Given the description of an element on the screen output the (x, y) to click on. 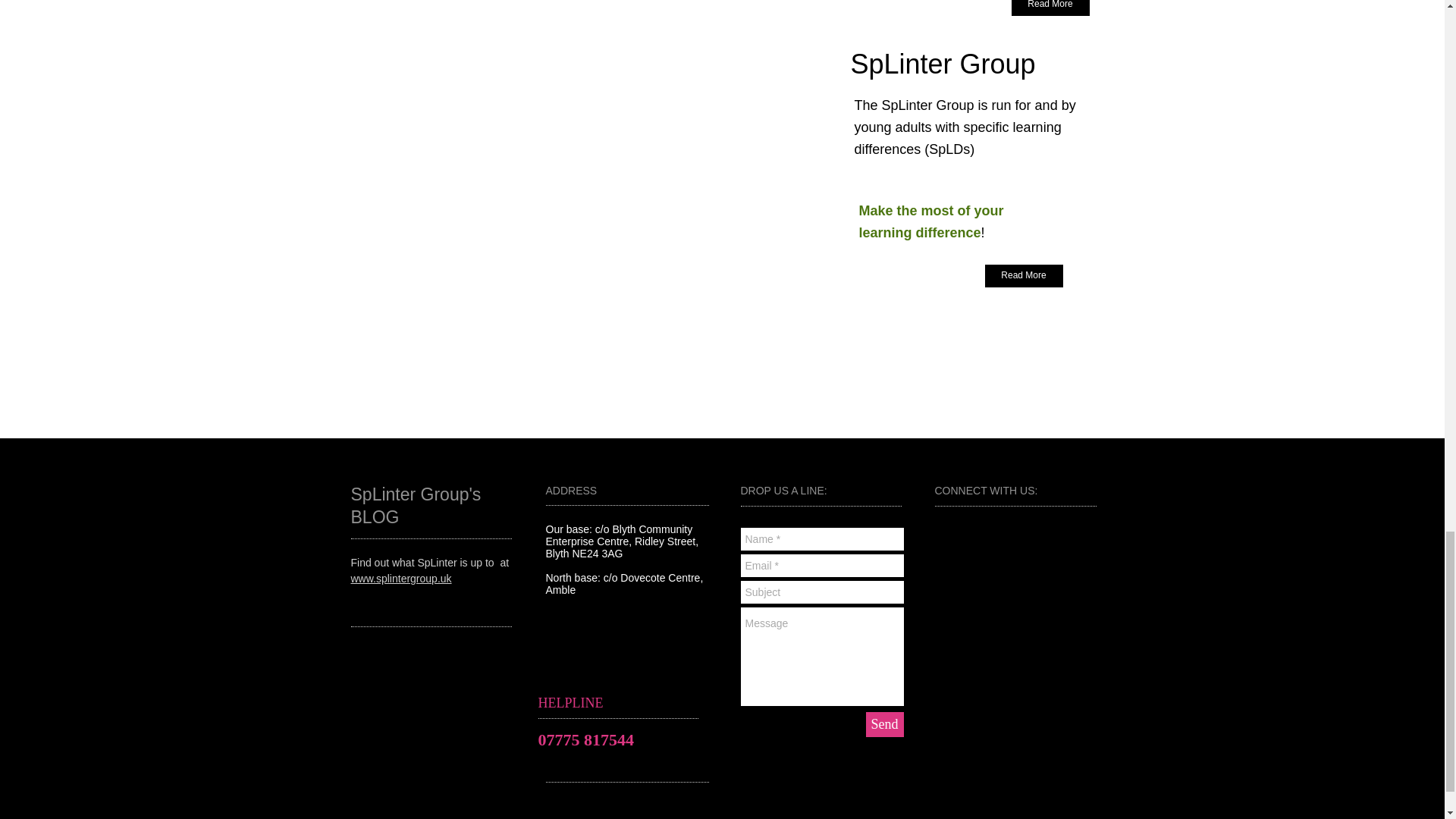
Read More (1023, 275)
SpLinter Group (942, 70)
Read More (1050, 7)
Send (885, 724)
www.splintergroup.uk (400, 578)
